Given the description of an element on the screen output the (x, y) to click on. 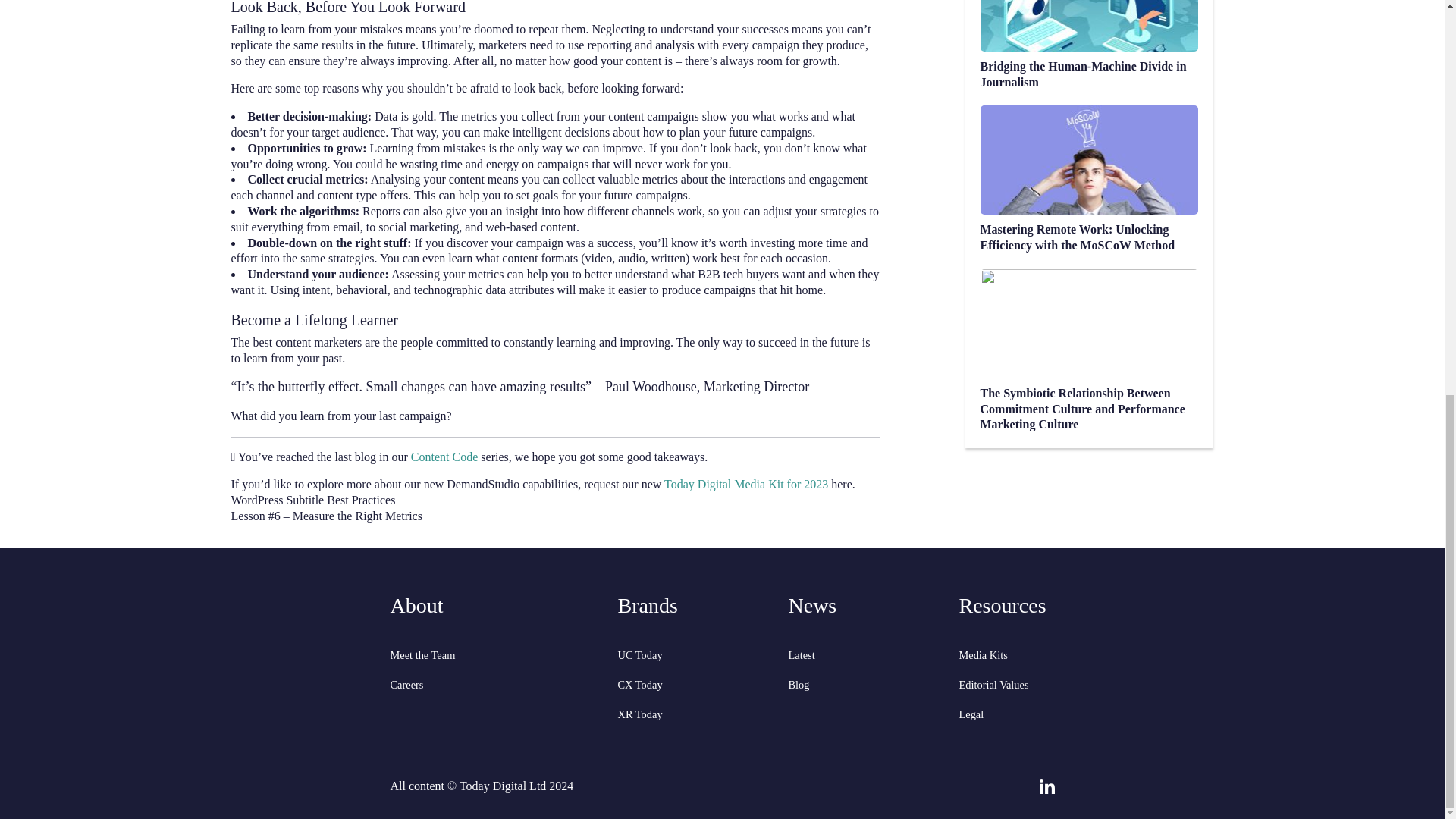
Meet the Team (494, 655)
CX Today (693, 685)
Latest (863, 655)
Bridging the Human-Machine Divide in Journalism (1088, 45)
Media Kits (1006, 655)
Content Code (443, 456)
Careers (494, 685)
Legal (1006, 714)
